Given the description of an element on the screen output the (x, y) to click on. 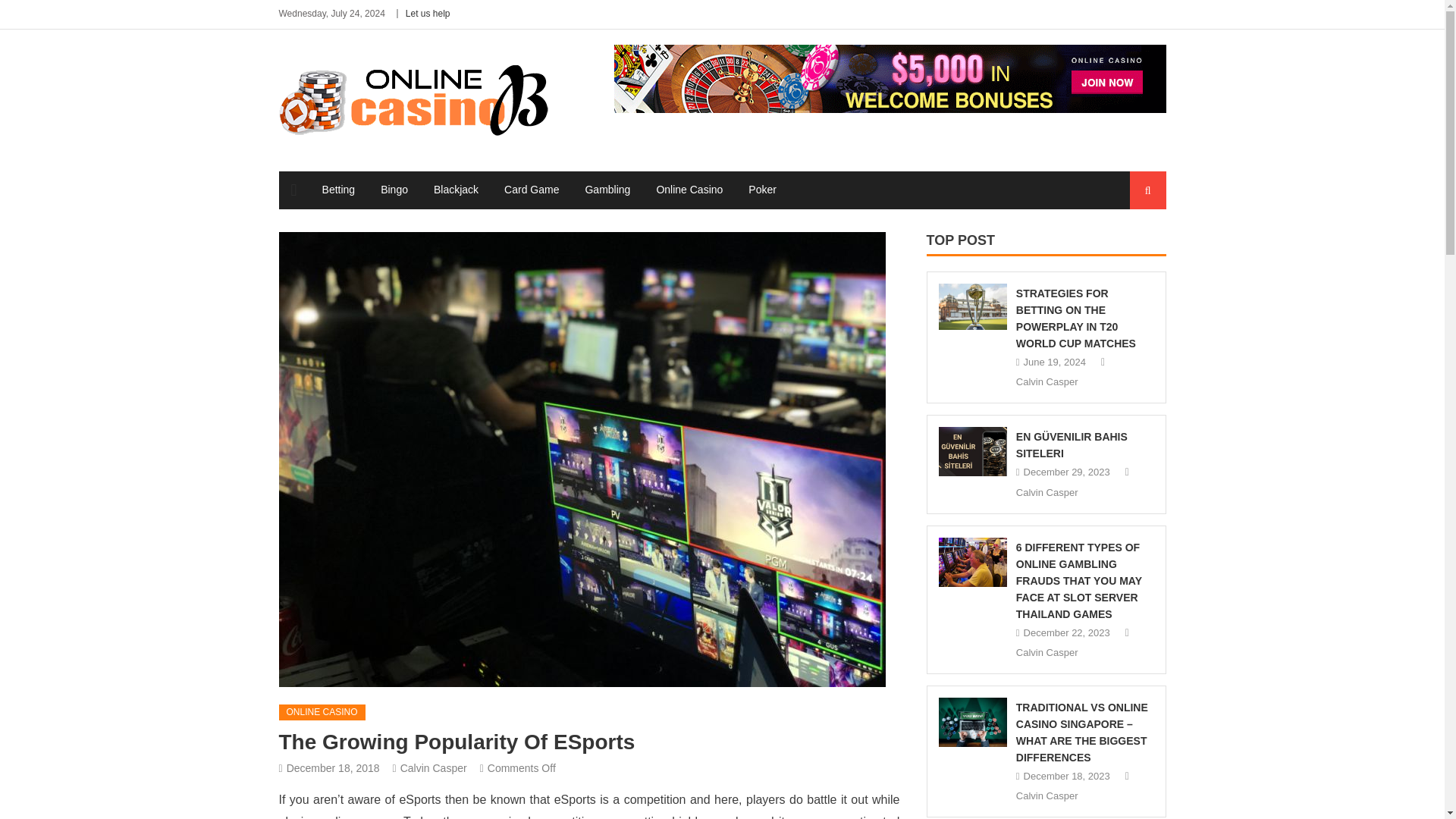
Let us help (427, 13)
Poker (761, 189)
Calvin Casper (433, 767)
Search (1133, 247)
Card Game (531, 189)
Blackjack (455, 189)
December 18, 2018 (333, 767)
Online Casino (689, 189)
Gambling (607, 189)
ONLINE CASINO (322, 712)
Bingo (394, 189)
Betting (338, 189)
